Given the description of an element on the screen output the (x, y) to click on. 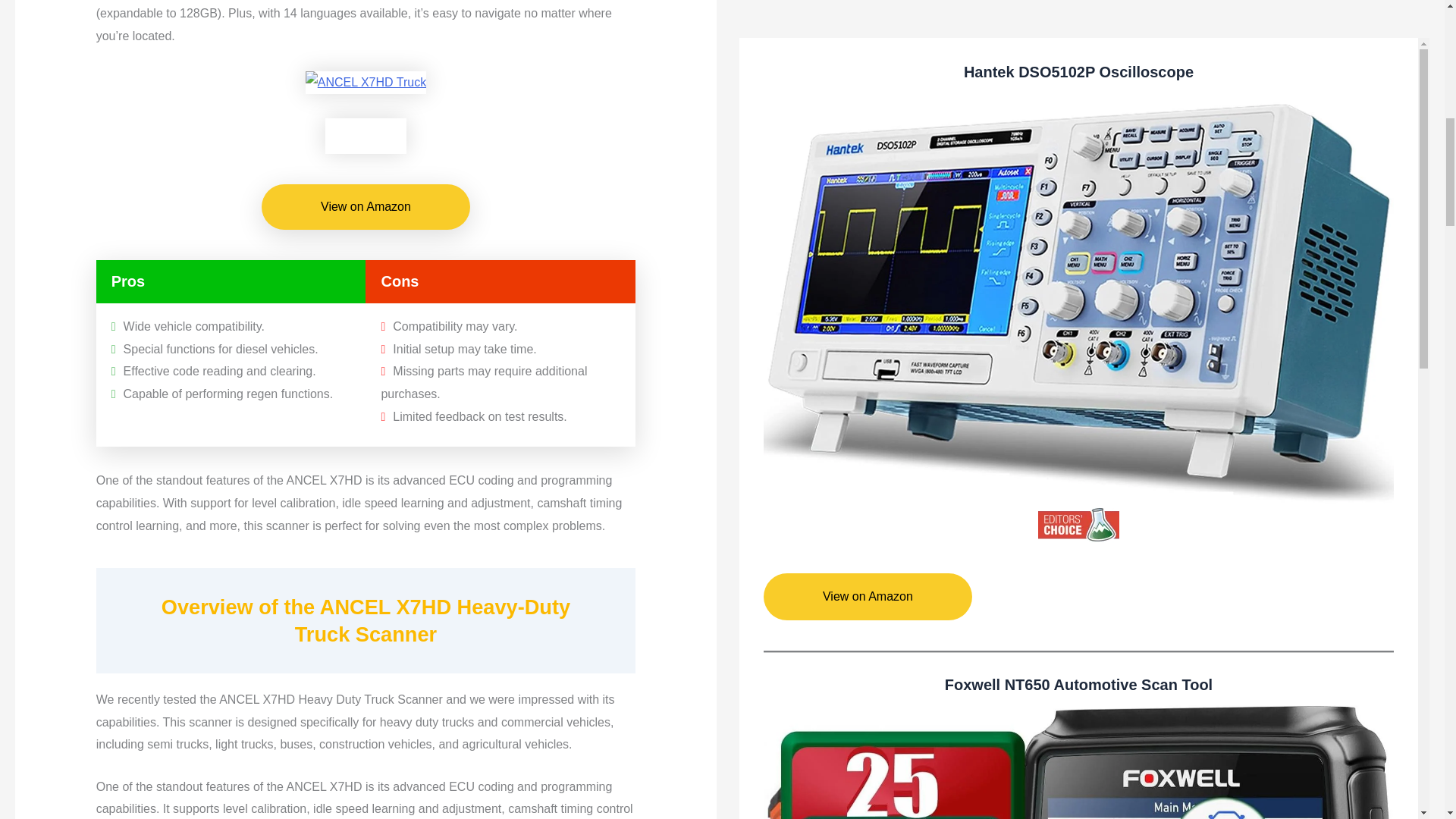
View on Amazon (366, 207)
